Given the description of an element on the screen output the (x, y) to click on. 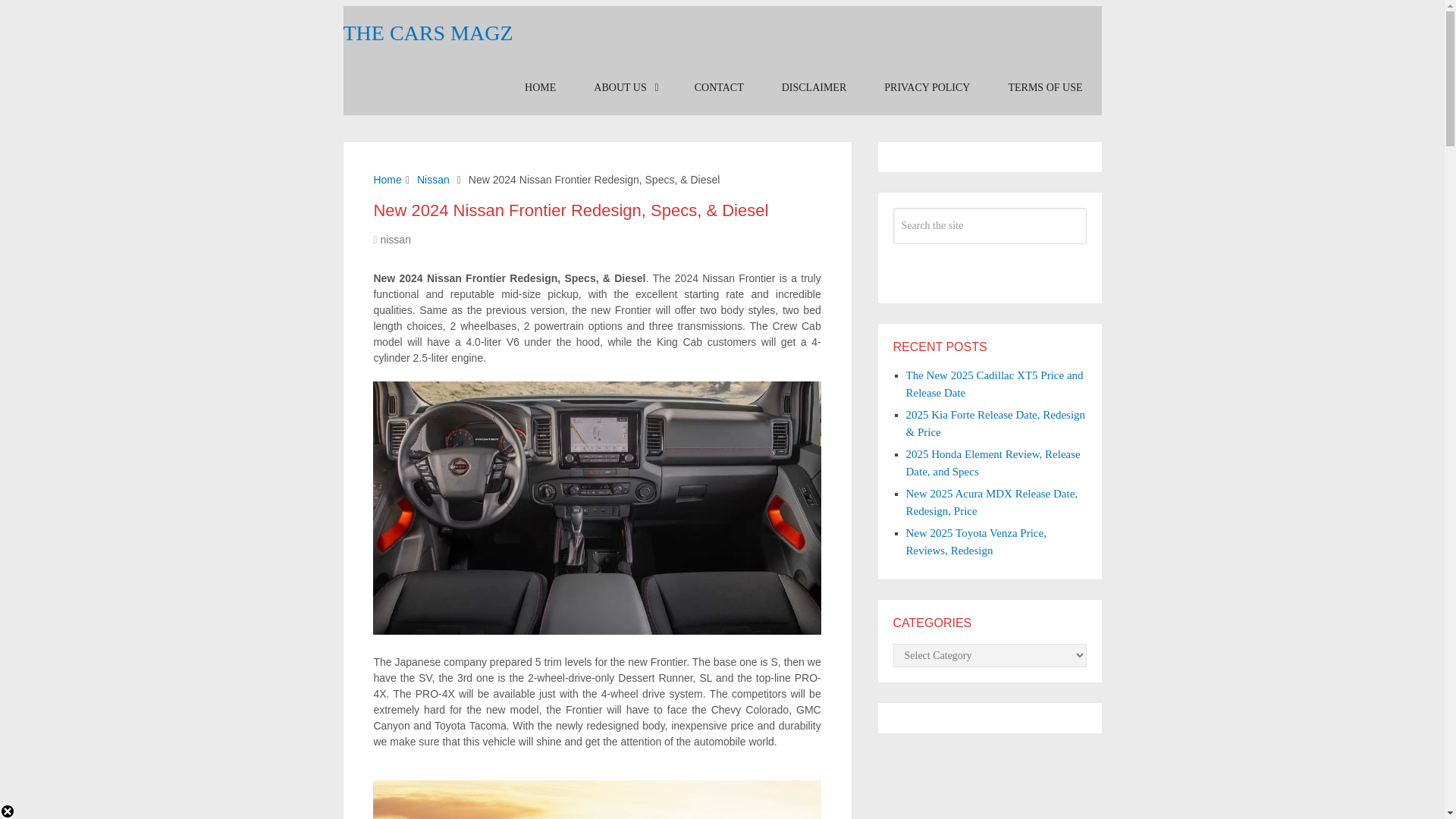
ABOUT US (625, 87)
nissan (395, 239)
TERMS OF USE (1044, 87)
DISCLAIMER (814, 87)
New 2025 Toyota Venza Price, Reviews, Redesign (975, 541)
New 2025 Acura MDX Release Date, Redesign, Price (991, 501)
Search (989, 269)
The New 2025 Cadillac XT5 Price and Release Date (994, 383)
2024 Nissan Frontier Interior (596, 630)
close button (7, 811)
HOME (540, 87)
View all posts in nissan (395, 239)
THE CARS MAGZ (427, 33)
Home (386, 179)
2025 Honda Element Review, Release Date, and Specs (992, 462)
